Given the description of an element on the screen output the (x, y) to click on. 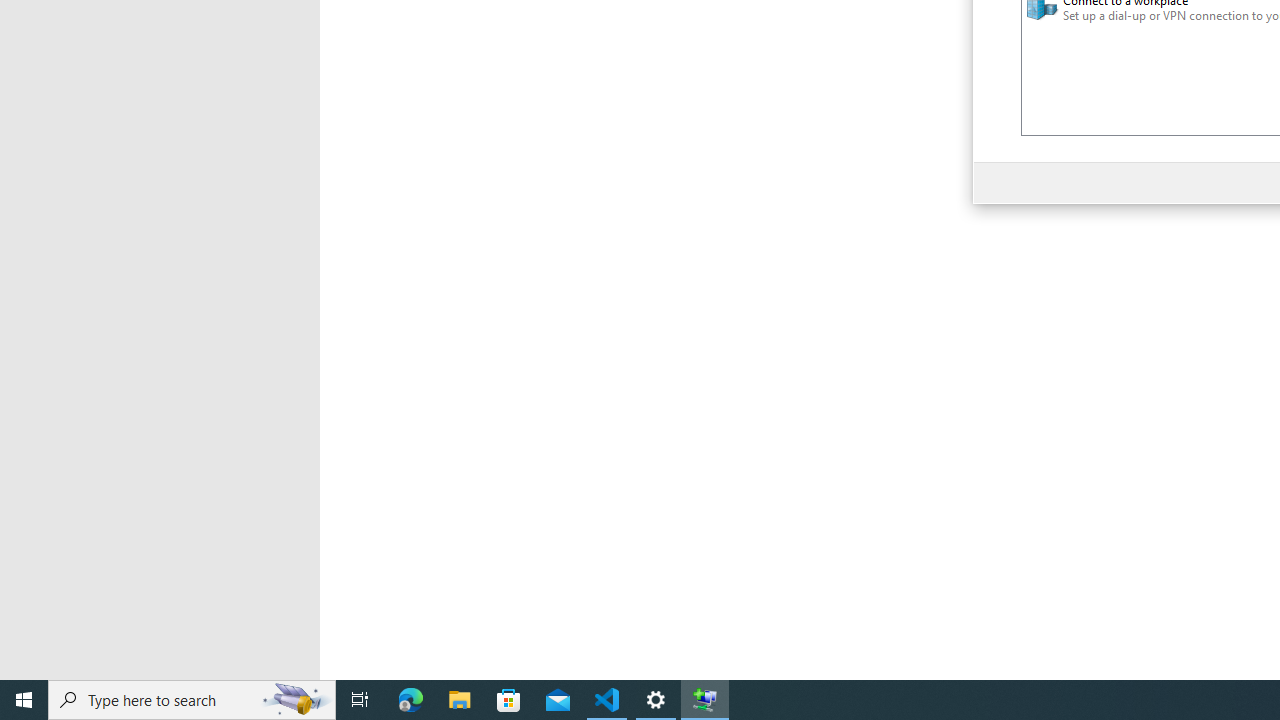
Settings - 1 running window (656, 699)
Extensible Wizards Host Process - 1 running window (704, 699)
